Given the description of an element on the screen output the (x, y) to click on. 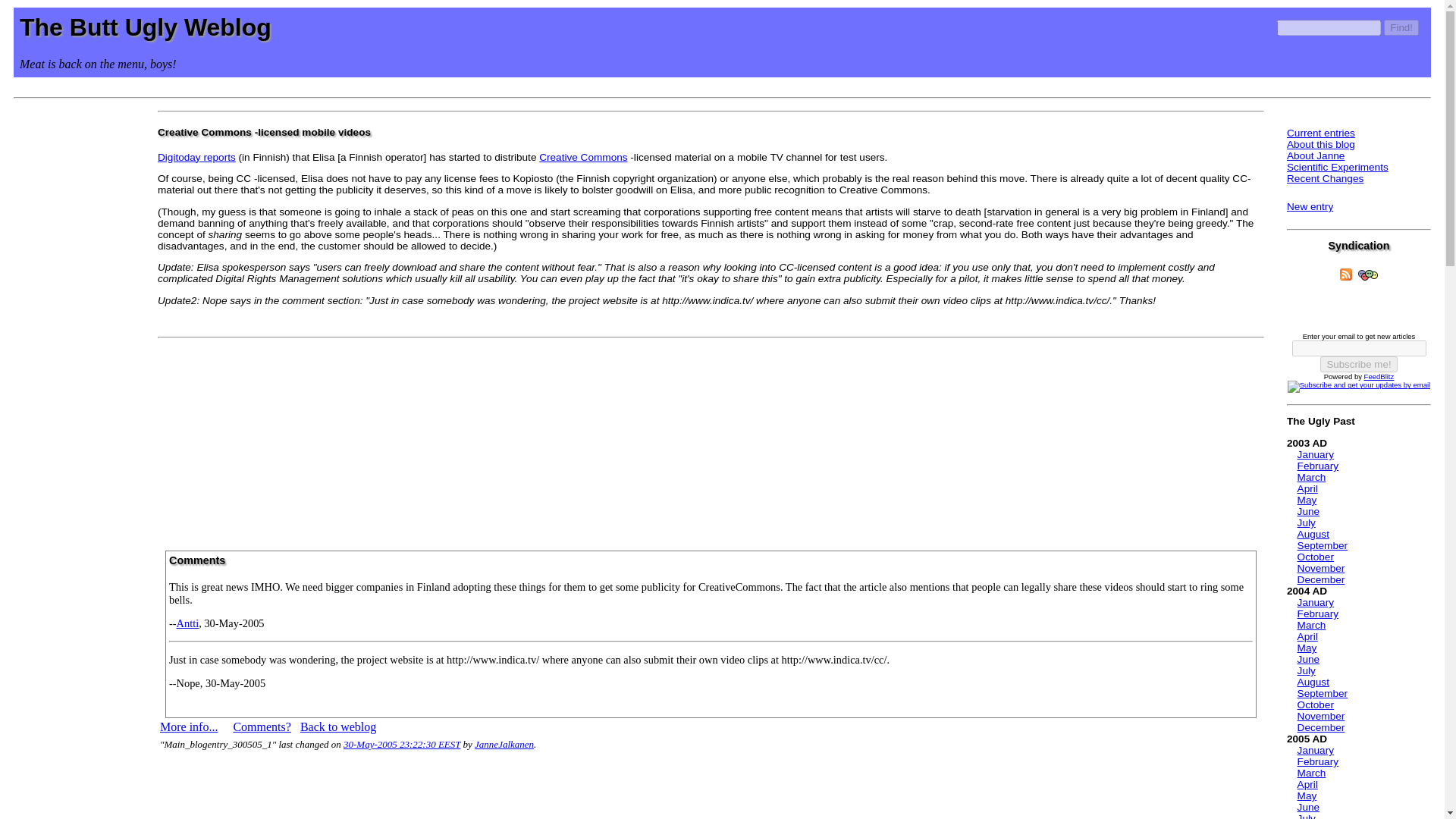
July (1306, 670)
Comments? (260, 726)
April (1307, 636)
Subscribe me! (1358, 364)
JanneJalkanen (504, 744)
December (1321, 579)
New entry (1310, 206)
Digitoday reports (196, 156)
February (1317, 613)
Scientific Experiments (1338, 166)
March (1311, 624)
Current entries (1321, 132)
Recent Changes (1324, 178)
July (1306, 522)
Back to weblog (337, 726)
